Given the description of an element on the screen output the (x, y) to click on. 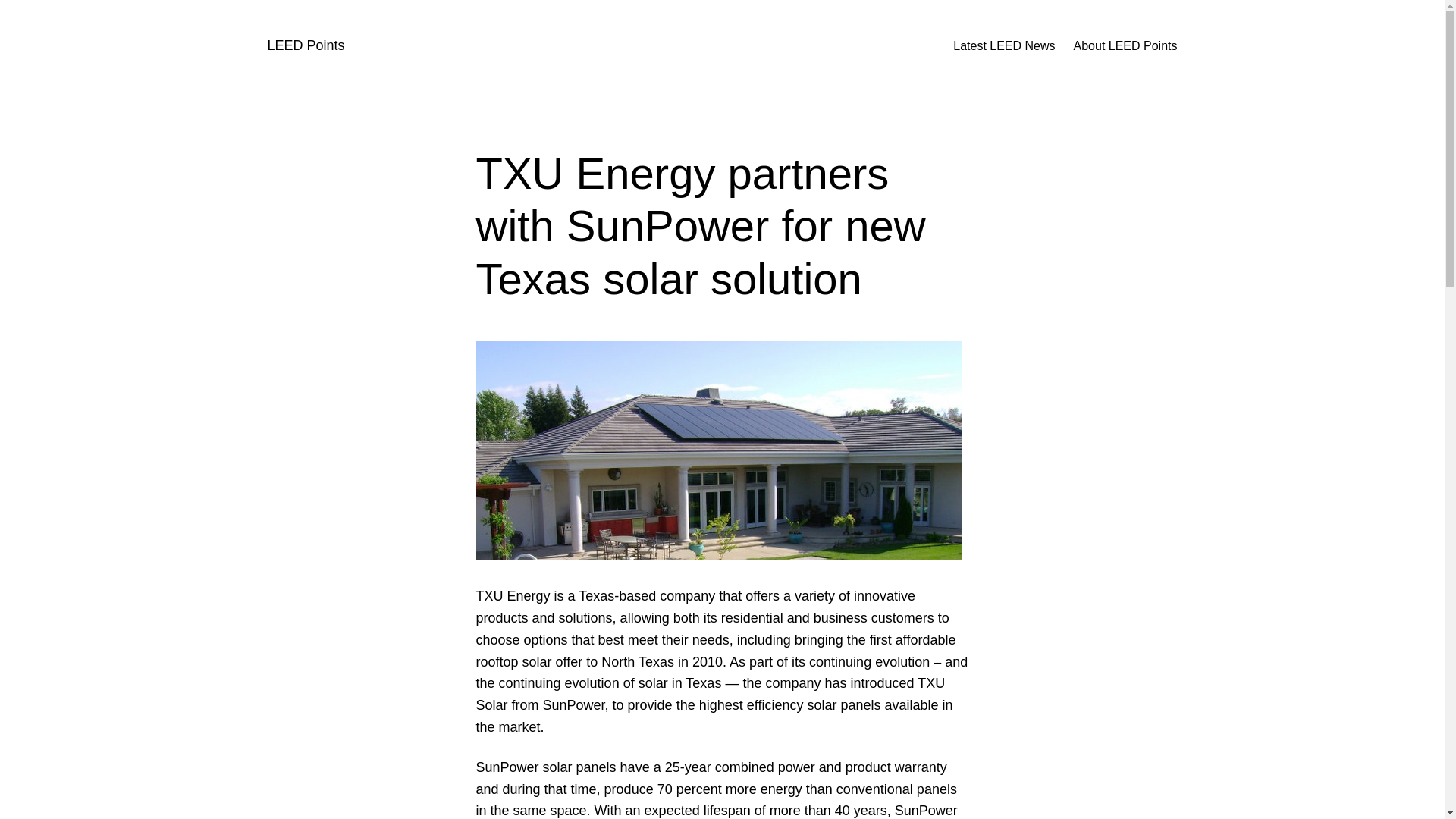
LEED Points (304, 45)
Latest LEED News (1003, 46)
About LEED Points (1125, 46)
